Given the description of an element on the screen output the (x, y) to click on. 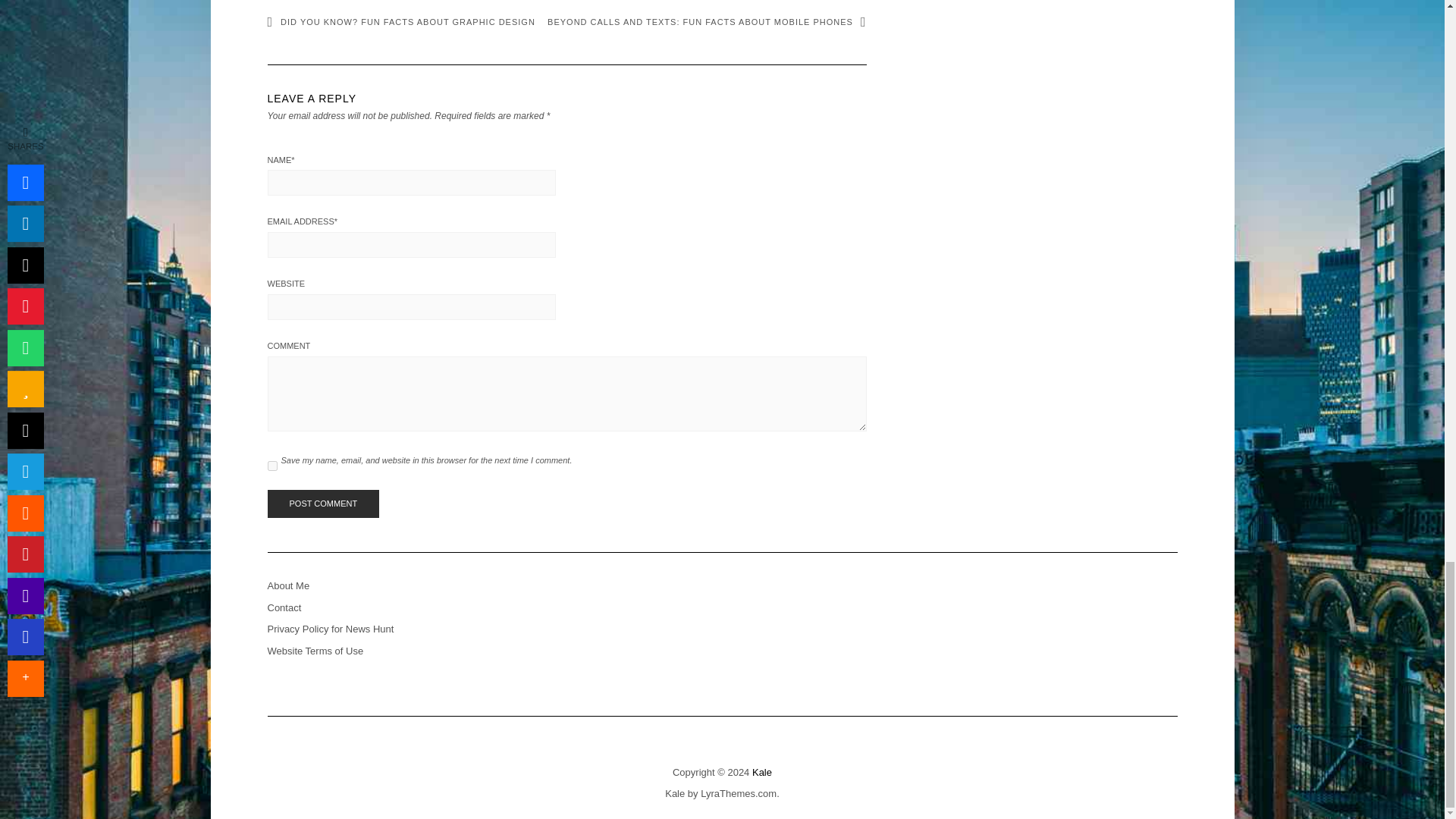
Privacy Policy for News Hunt (329, 628)
Website Terms of Use (314, 650)
Post Comment (322, 503)
About Me (287, 585)
Kale (674, 793)
Contact (283, 607)
BEYOND CALLS AND TEXTS: FUN FACTS ABOUT MOBILE PHONES (706, 21)
yes (271, 465)
Post Comment (322, 503)
Kale (761, 772)
